Given the description of an element on the screen output the (x, y) to click on. 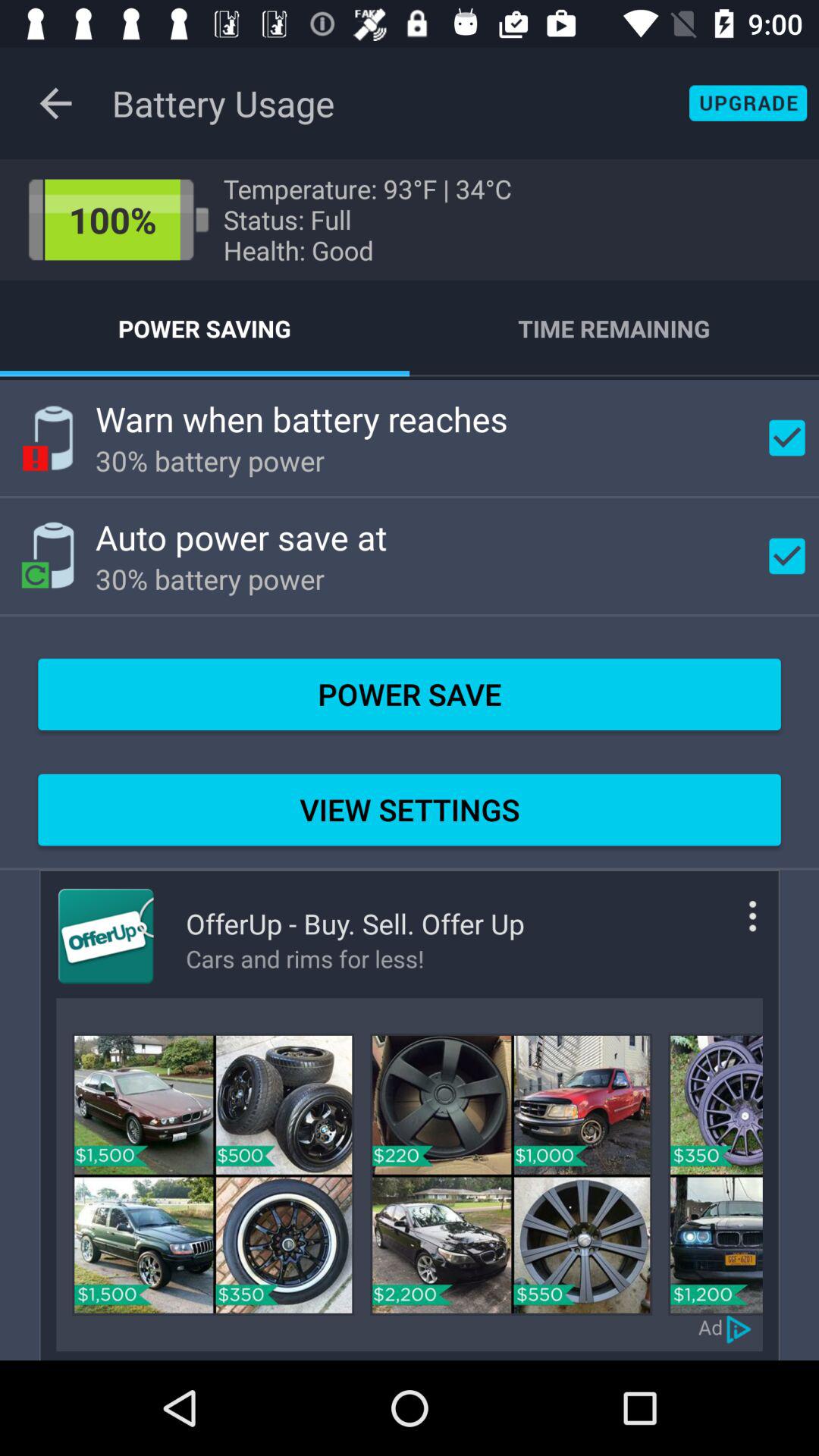
open offerup app (105, 936)
